Given the description of an element on the screen output the (x, y) to click on. 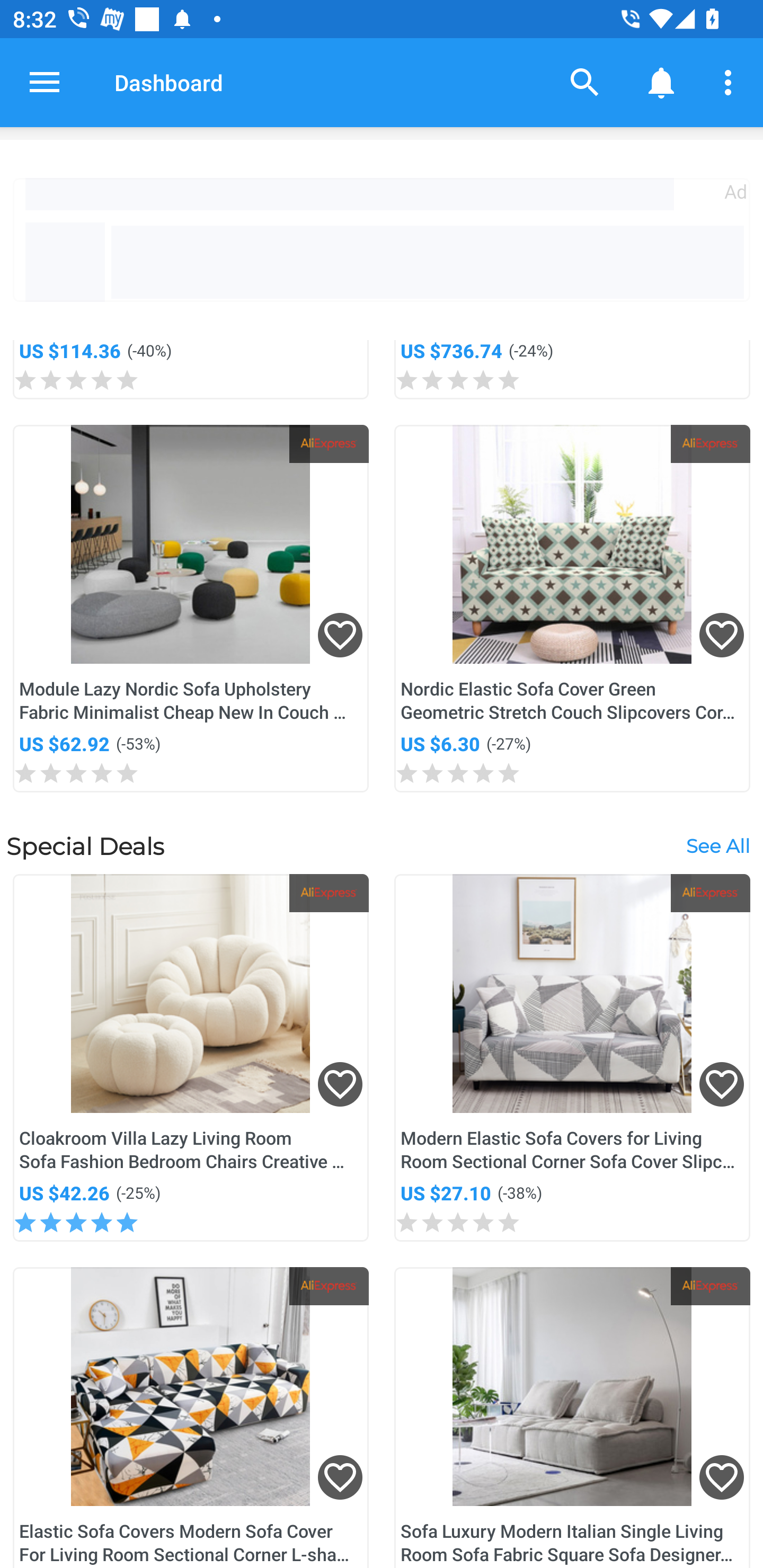
Open navigation drawer (44, 82)
Search (585, 81)
More options (731, 81)
US $114.36 (-40%) 0.0 (190, 369)
US $736.74 (-24%) 0.0 (572, 369)
See All (717, 844)
